Given the description of an element on the screen output the (x, y) to click on. 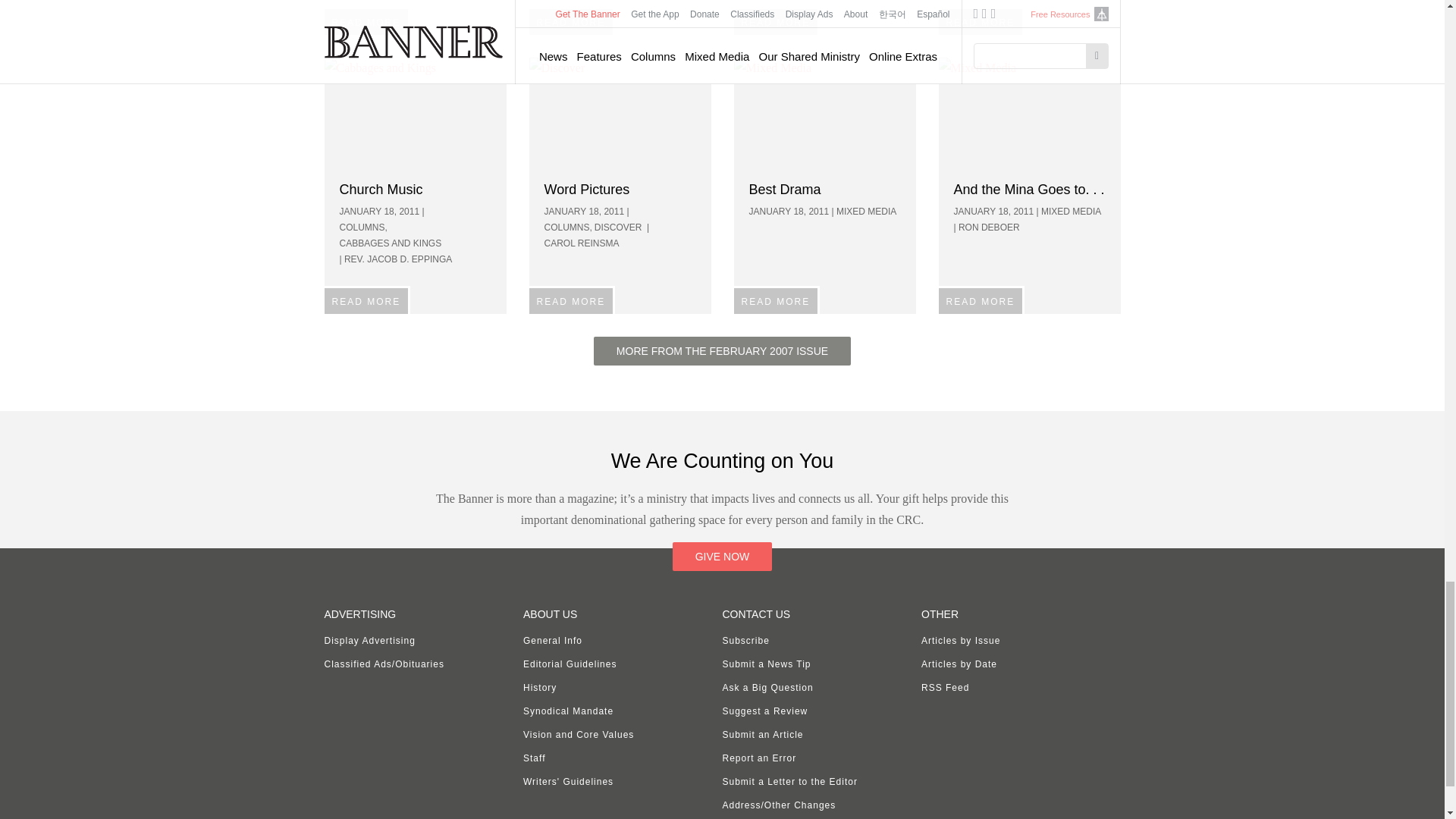
Cabbages and Kings (415, 113)
Mixed Media (1030, 113)
Mixed Media (824, 113)
Discover (620, 113)
